Given the description of an element on the screen output the (x, y) to click on. 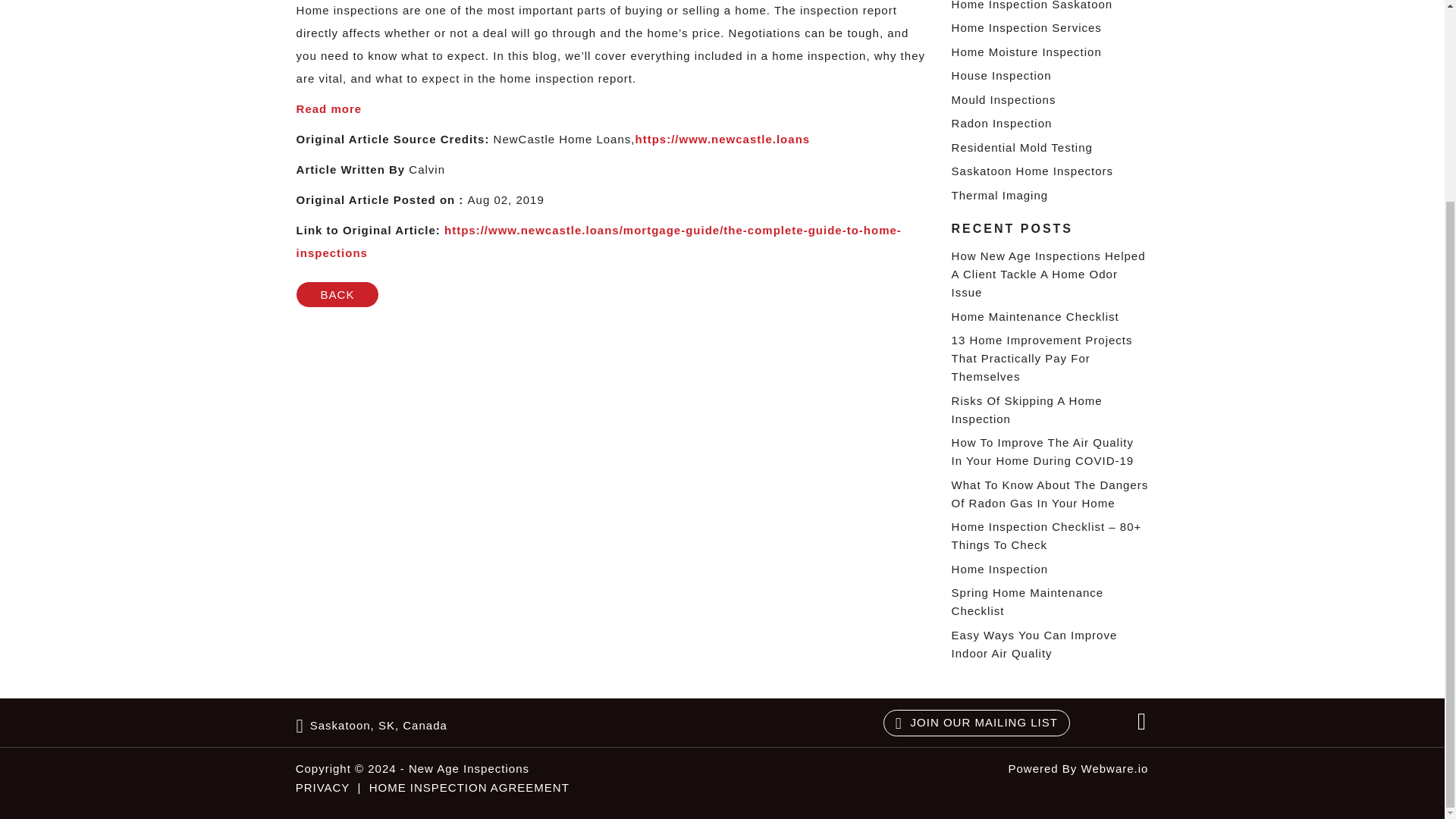
Residential Mold Testing (1022, 146)
Read more (329, 108)
Home Inspection Services (1027, 27)
BACK (337, 294)
House Inspection (1001, 74)
Home Inspection Saskatoon (1032, 5)
Mould Inspections (1004, 99)
Radon Inspection (1002, 123)
Home Moisture Inspection (1027, 51)
Thermal Imaging (1000, 195)
